Given the description of an element on the screen output the (x, y) to click on. 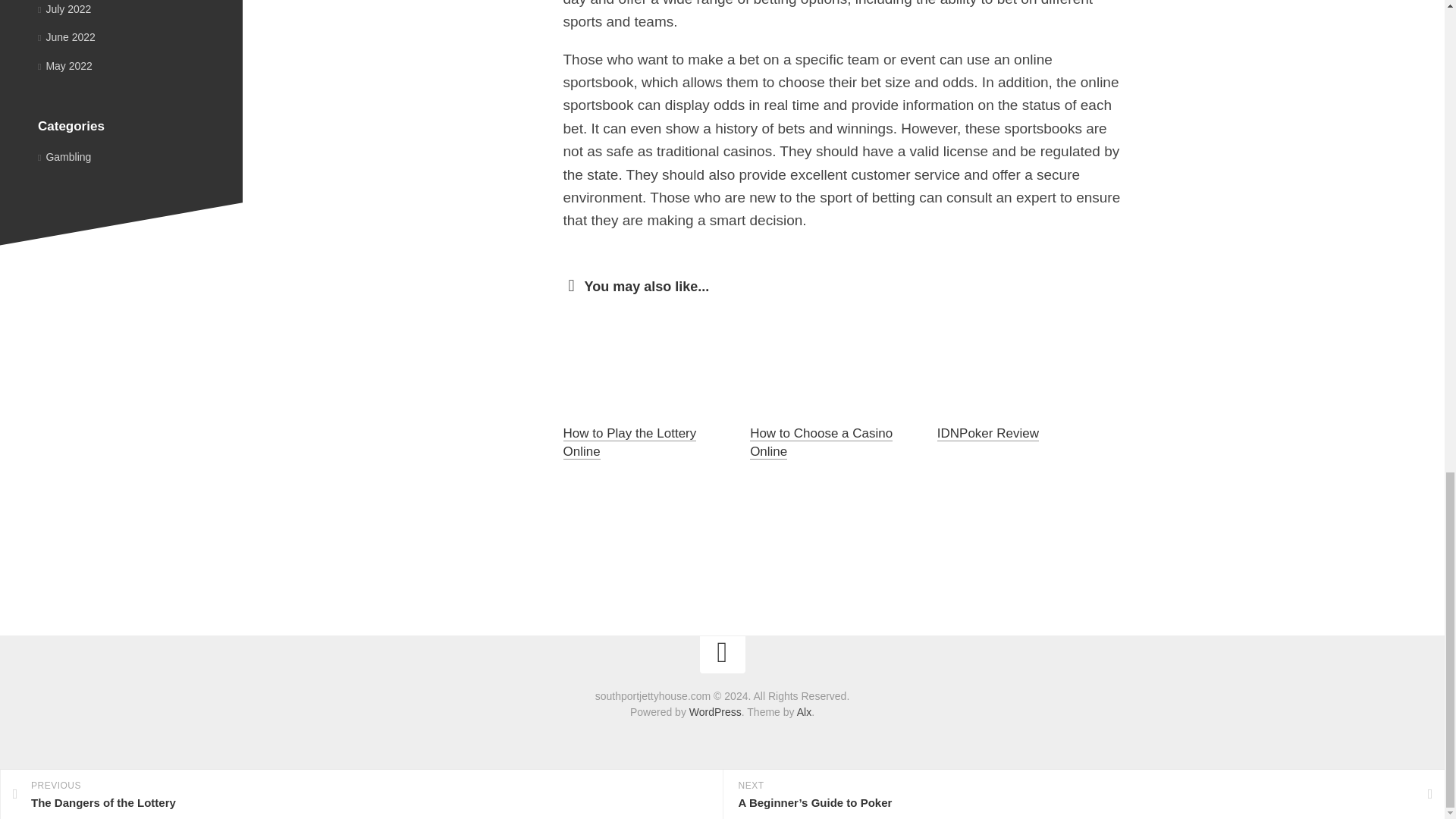
IDNPoker Review (988, 432)
How to Play the Lottery Online (628, 441)
How to Choose a Casino Online (820, 441)
